Given the description of an element on the screen output the (x, y) to click on. 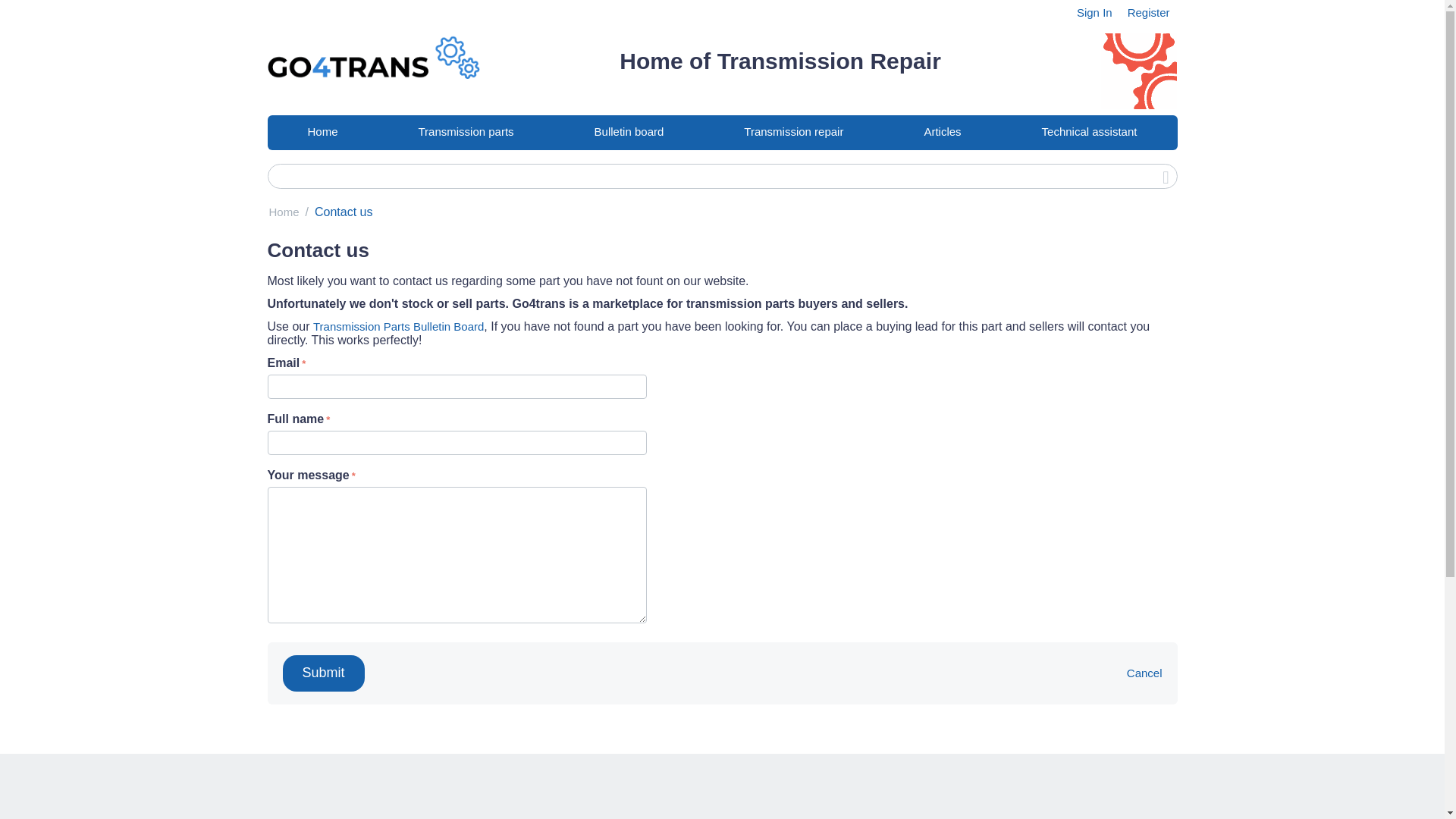
Bulletin board (629, 132)
Cancel (1143, 672)
Transmission repair (793, 132)
Home (321, 132)
Submit (323, 673)
Articles (942, 132)
Search by part number or keyword (721, 176)
Sign In (1093, 11)
Home (282, 211)
Register (1148, 11)
